Given the description of an element on the screen output the (x, y) to click on. 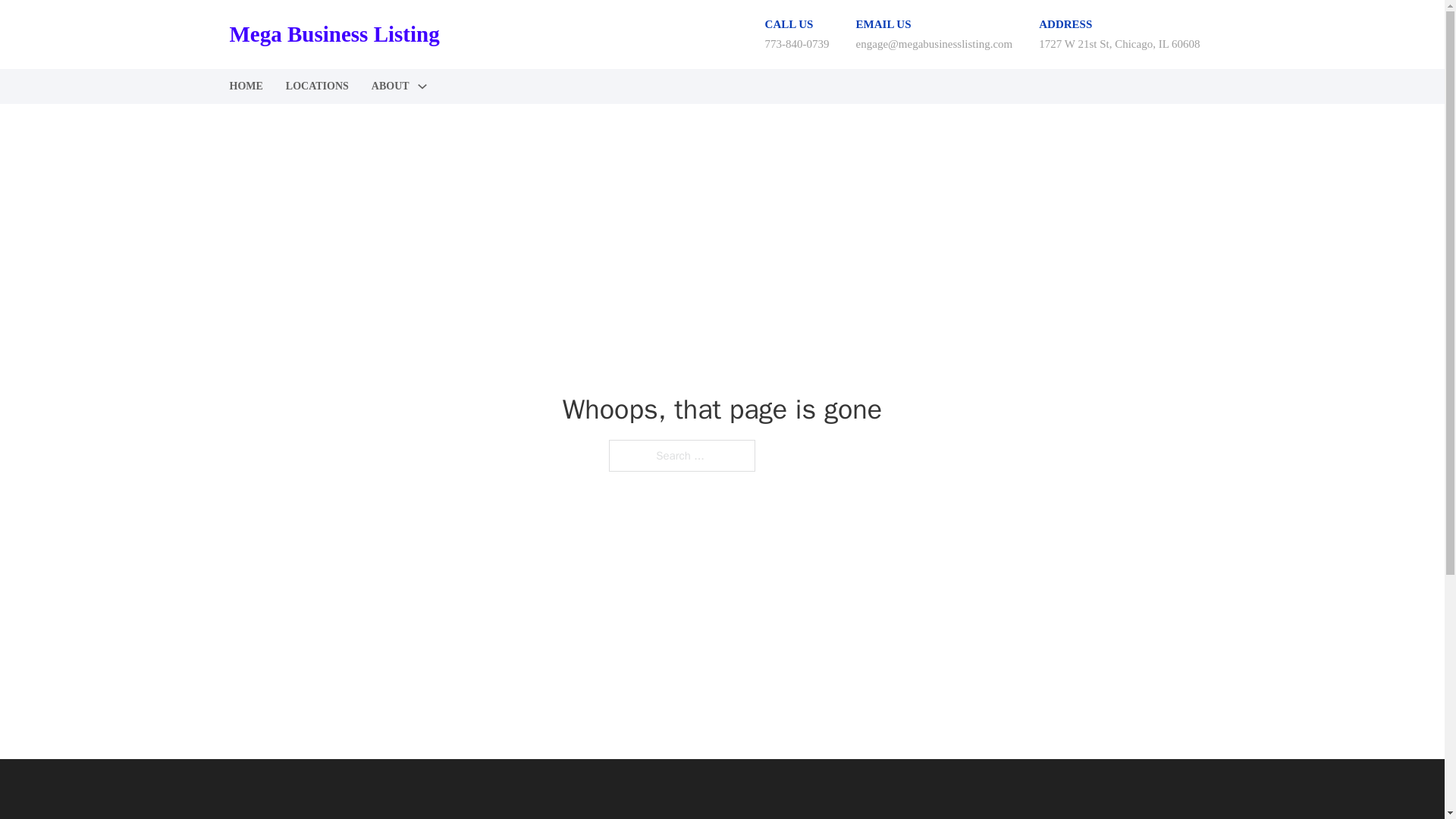
Mega Business Listing (333, 34)
HOME (245, 85)
LOCATIONS (317, 85)
773-840-0739 (797, 43)
